Given the description of an element on the screen output the (x, y) to click on. 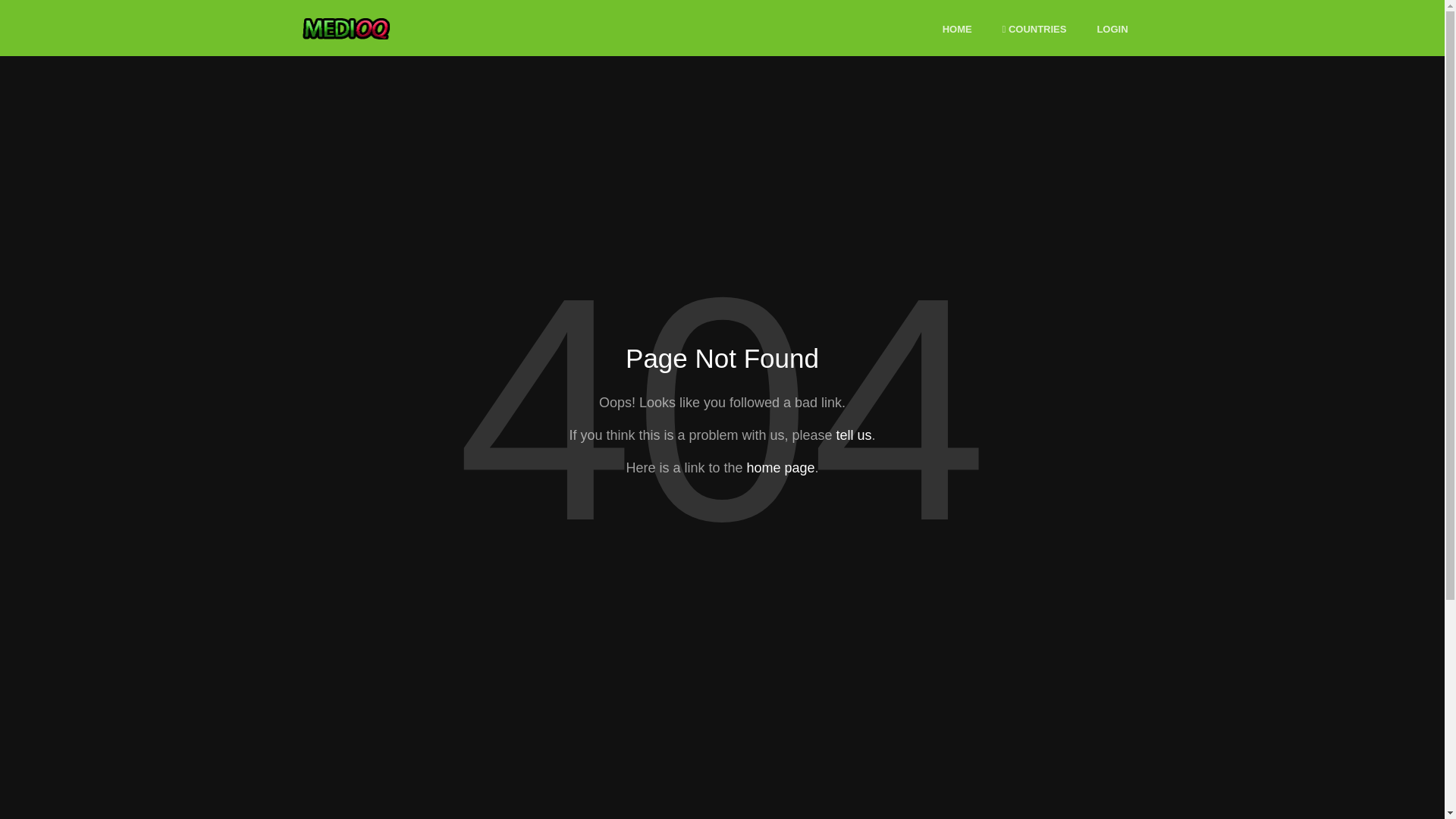
tell us (852, 435)
HOME (957, 29)
home page (779, 467)
